Given the description of an element on the screen output the (x, y) to click on. 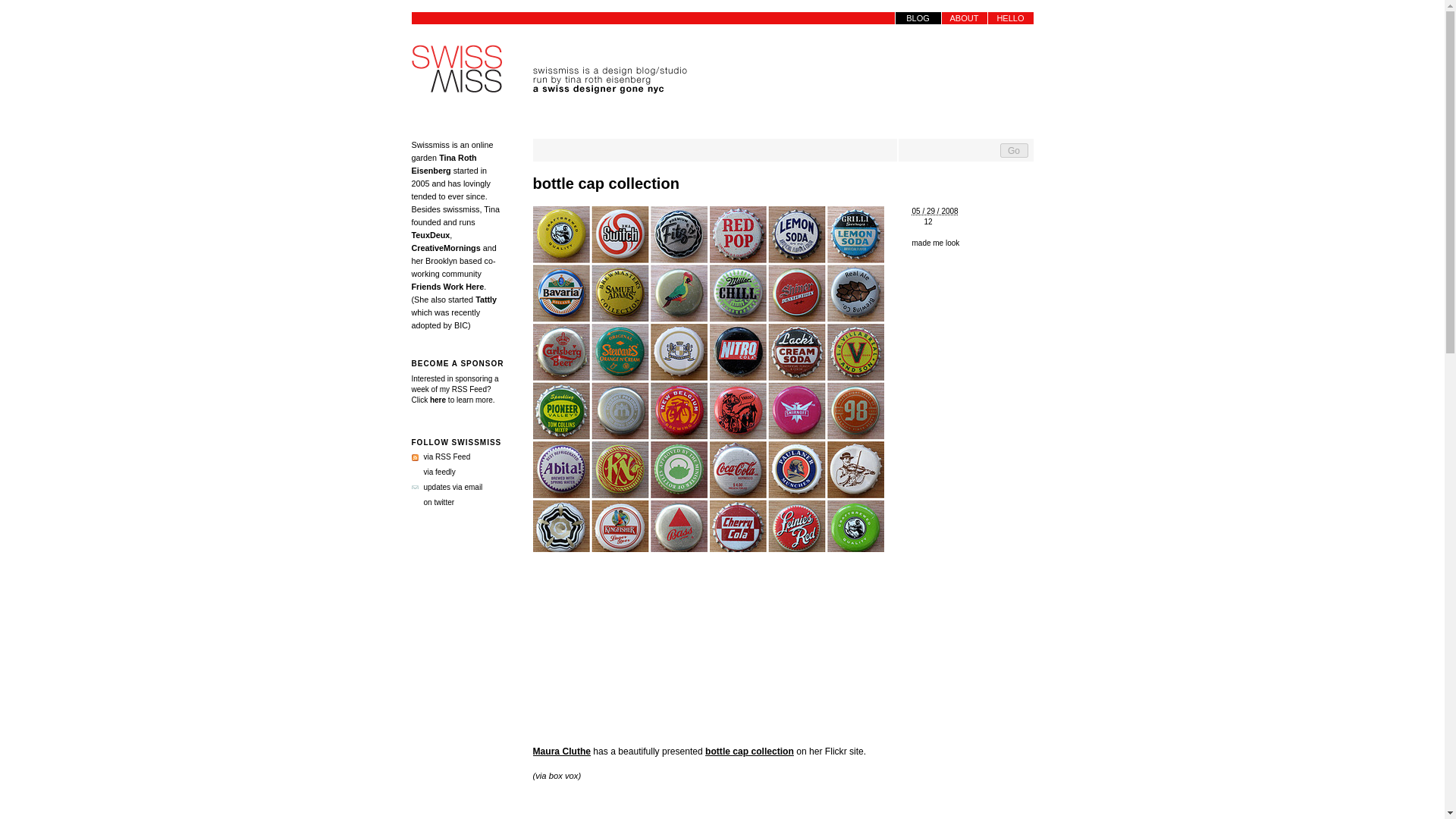
Go (1012, 150)
swissmiss (456, 69)
2008-05-29T09:24:13-0400 (934, 211)
Friends Work Here (446, 286)
BLOG (917, 18)
HELLO (1009, 18)
Maura Cluthe (561, 751)
12 (971, 222)
via RSS Feed (440, 456)
Tina Roth Eisenberg (443, 164)
